Given the description of an element on the screen output the (x, y) to click on. 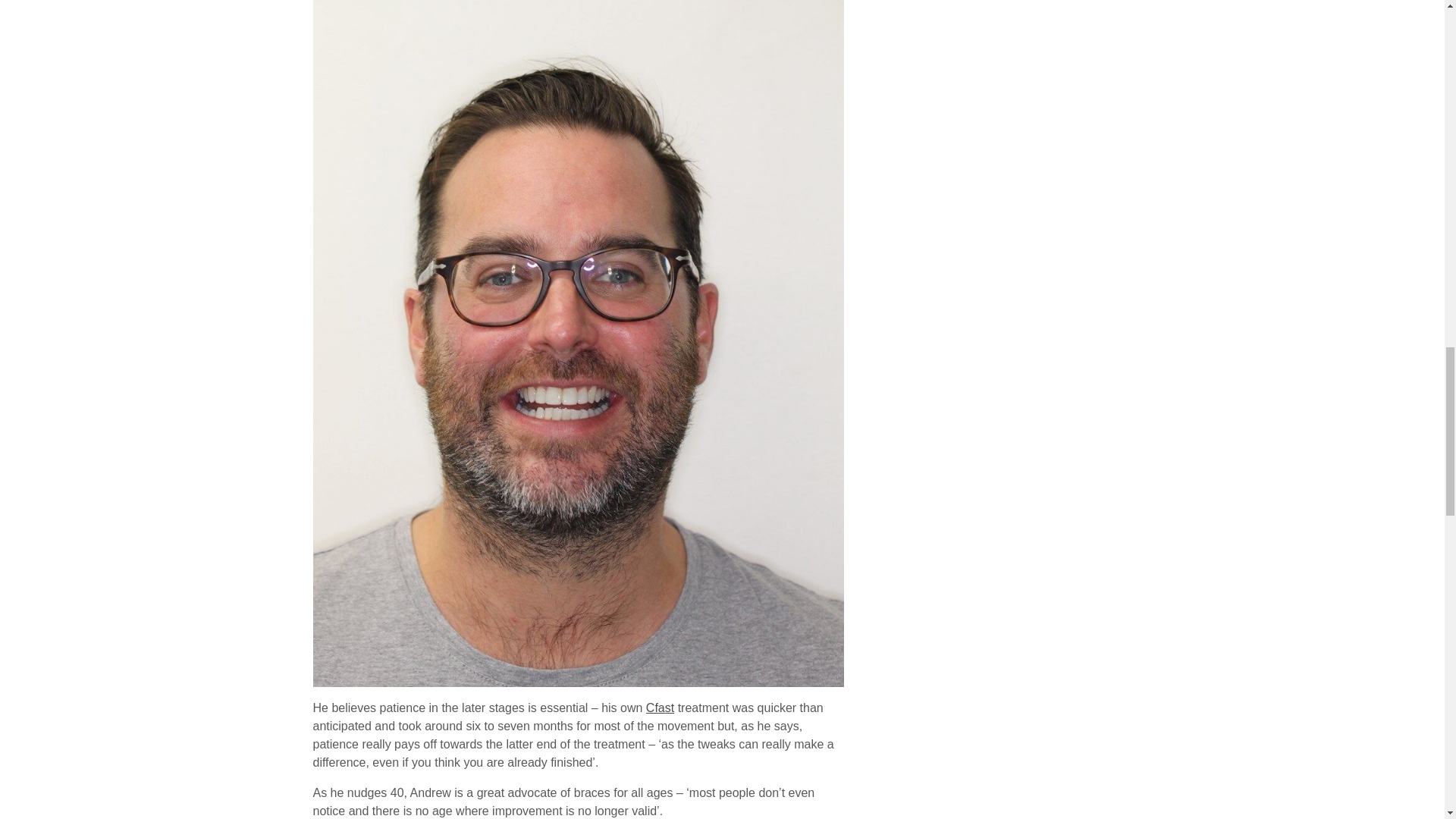
Cfast (660, 707)
